Given the description of an element on the screen output the (x, y) to click on. 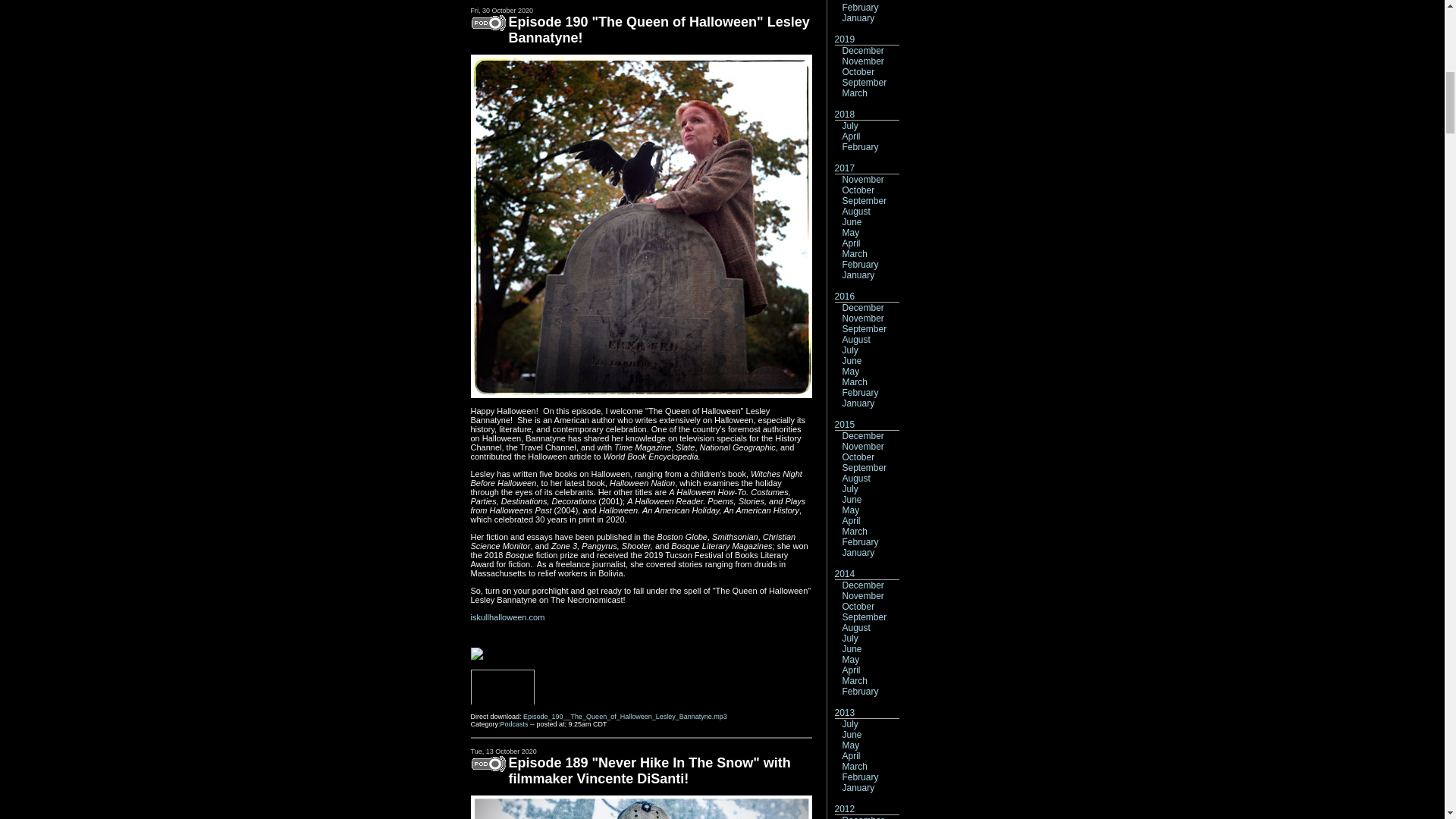
Search for suggestions (626, 410)
Episode 190 "The Queen of Halloween" Lesley Bannatyne! (658, 29)
Podcasts (514, 724)
iskullhalloween.com (507, 616)
